Given the description of an element on the screen output the (x, y) to click on. 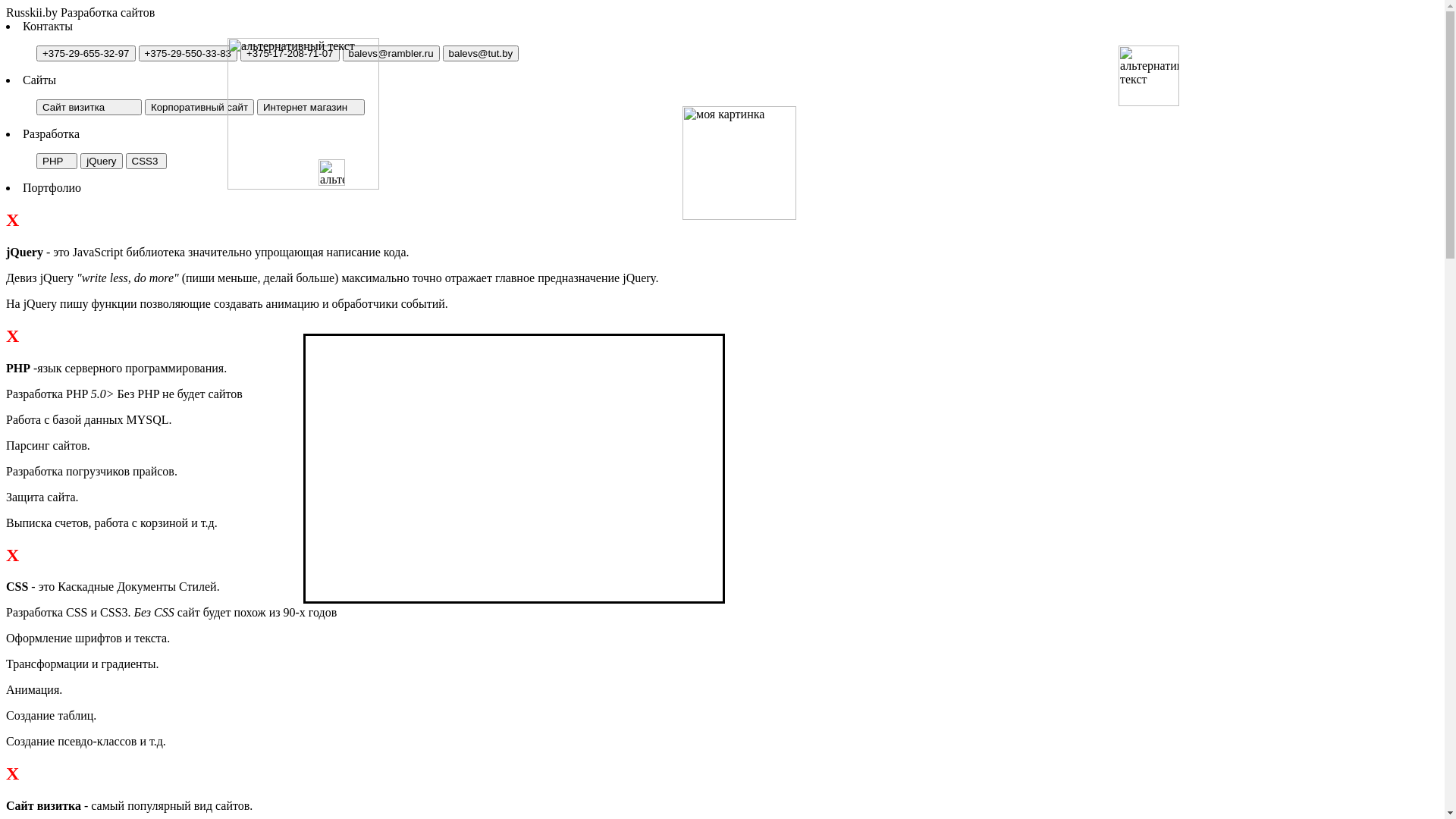
jQuery Element type: text (101, 161)
